Given the description of an element on the screen output the (x, y) to click on. 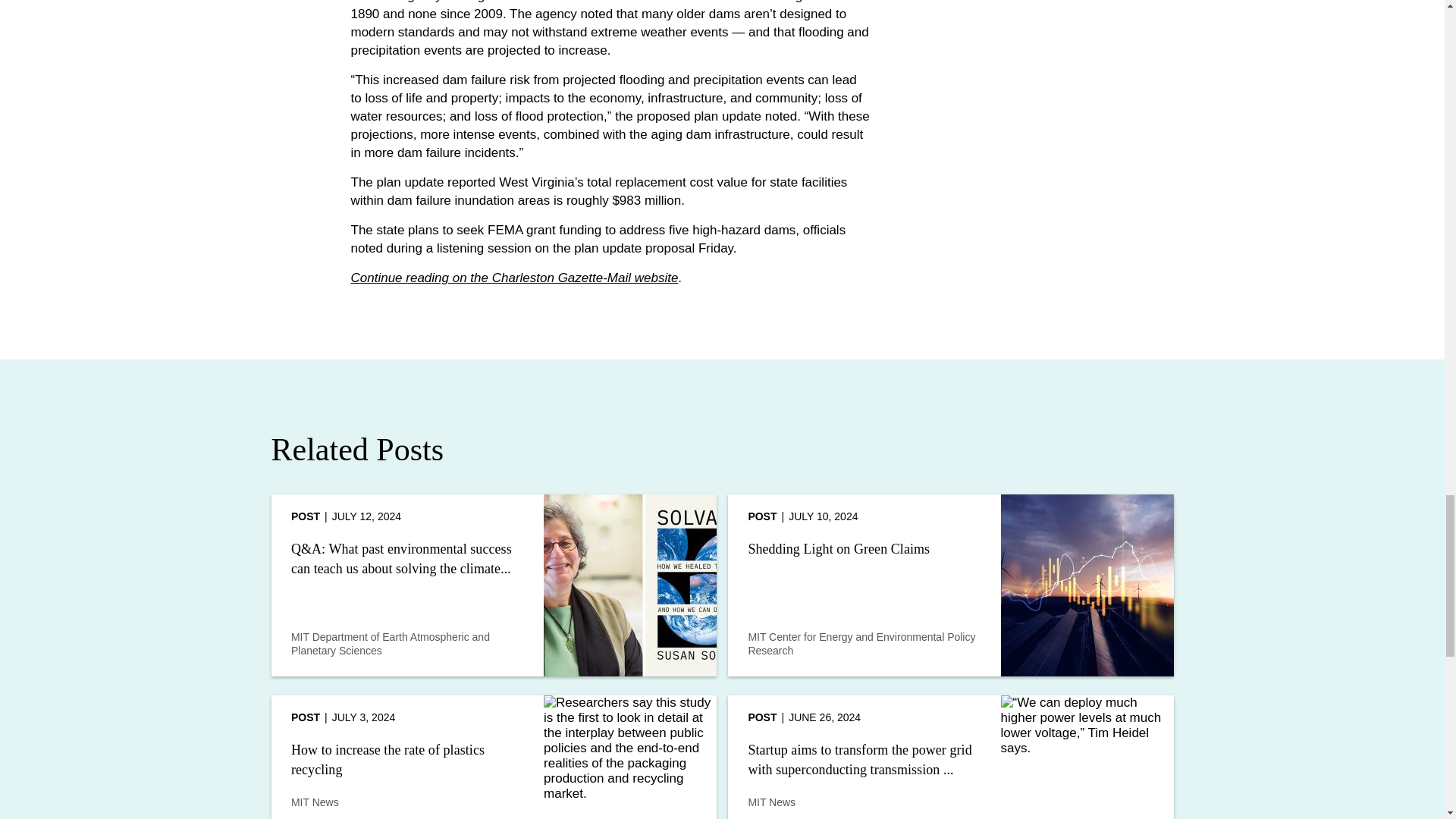
Continue reading on the Charleston Gazette-Mail website (514, 278)
